Given the description of an element on the screen output the (x, y) to click on. 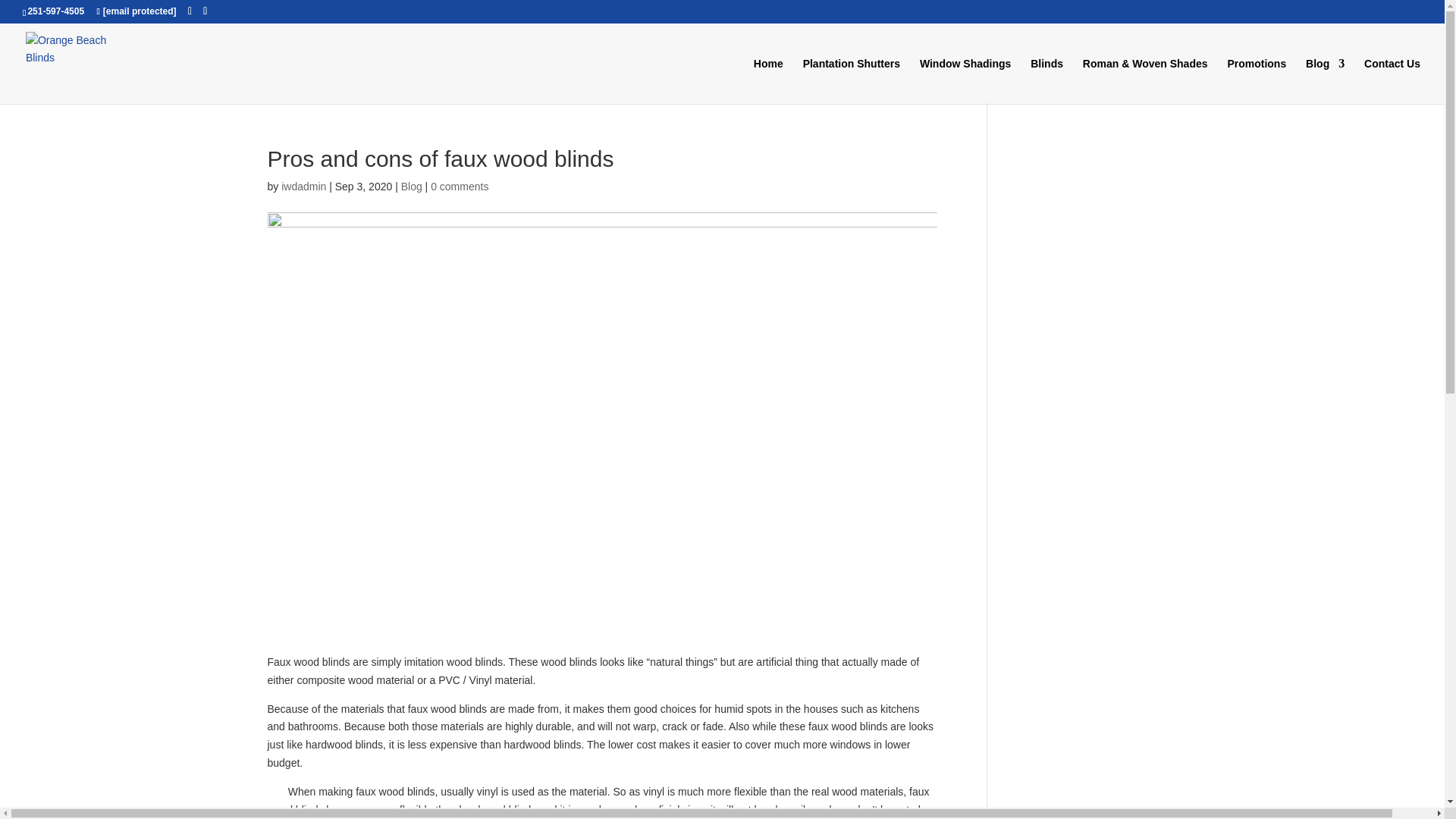
Window Shadings (965, 81)
iwdadmin (303, 186)
0 comments (458, 186)
Posts by iwdadmin (303, 186)
Promotions (1256, 81)
Contact Us (1392, 81)
Blog (411, 186)
Plantation Shutters (851, 81)
